Given the description of an element on the screen output the (x, y) to click on. 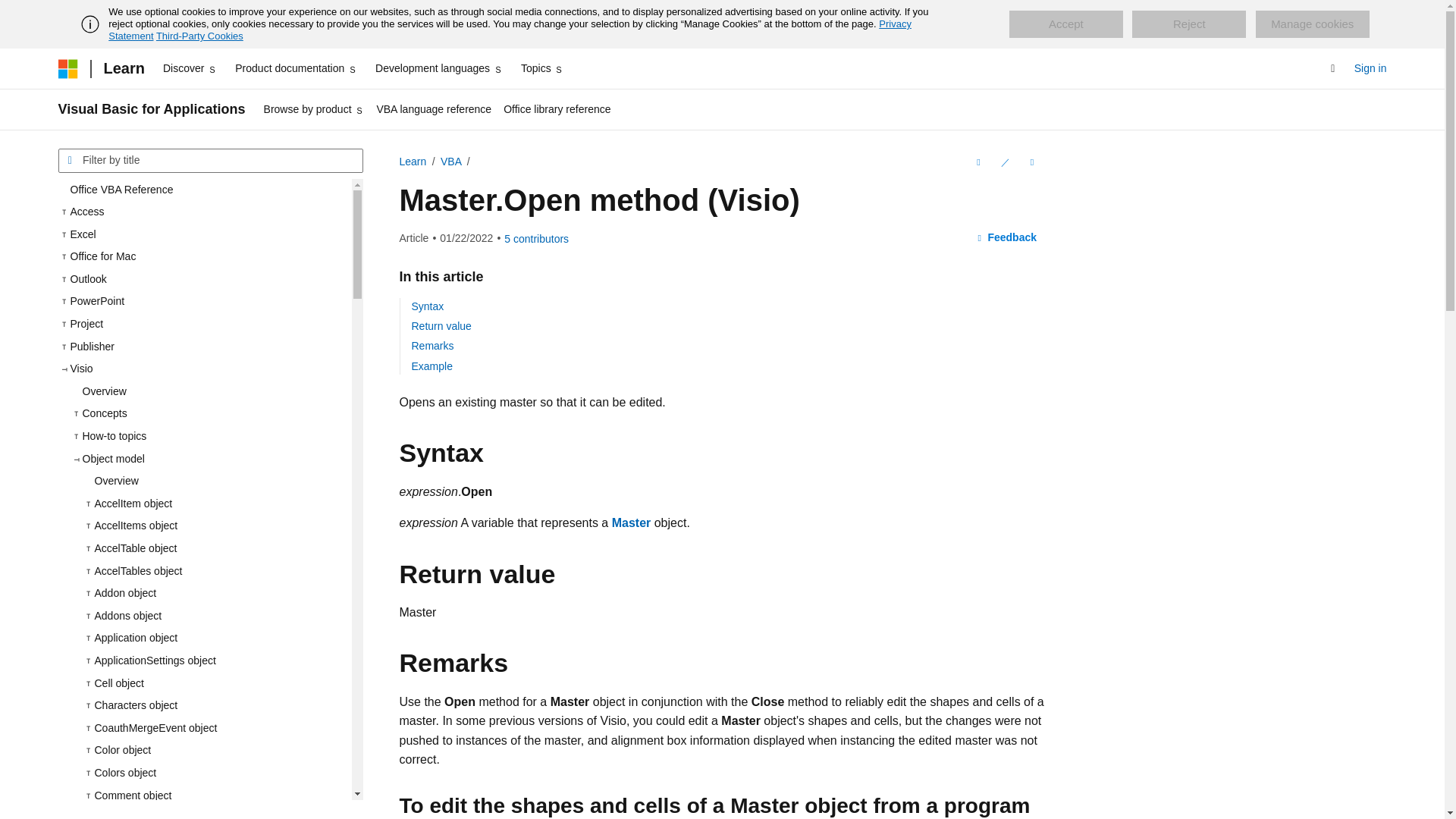
Browse by product (314, 109)
Office library reference (556, 109)
Visual Basic for Applications (151, 109)
View all contributors (536, 238)
Accept (1065, 23)
Reject (1189, 23)
Sign in (1370, 68)
More actions (1031, 161)
Edit This Document (1004, 161)
Topics (542, 68)
